Given the description of an element on the screen output the (x, y) to click on. 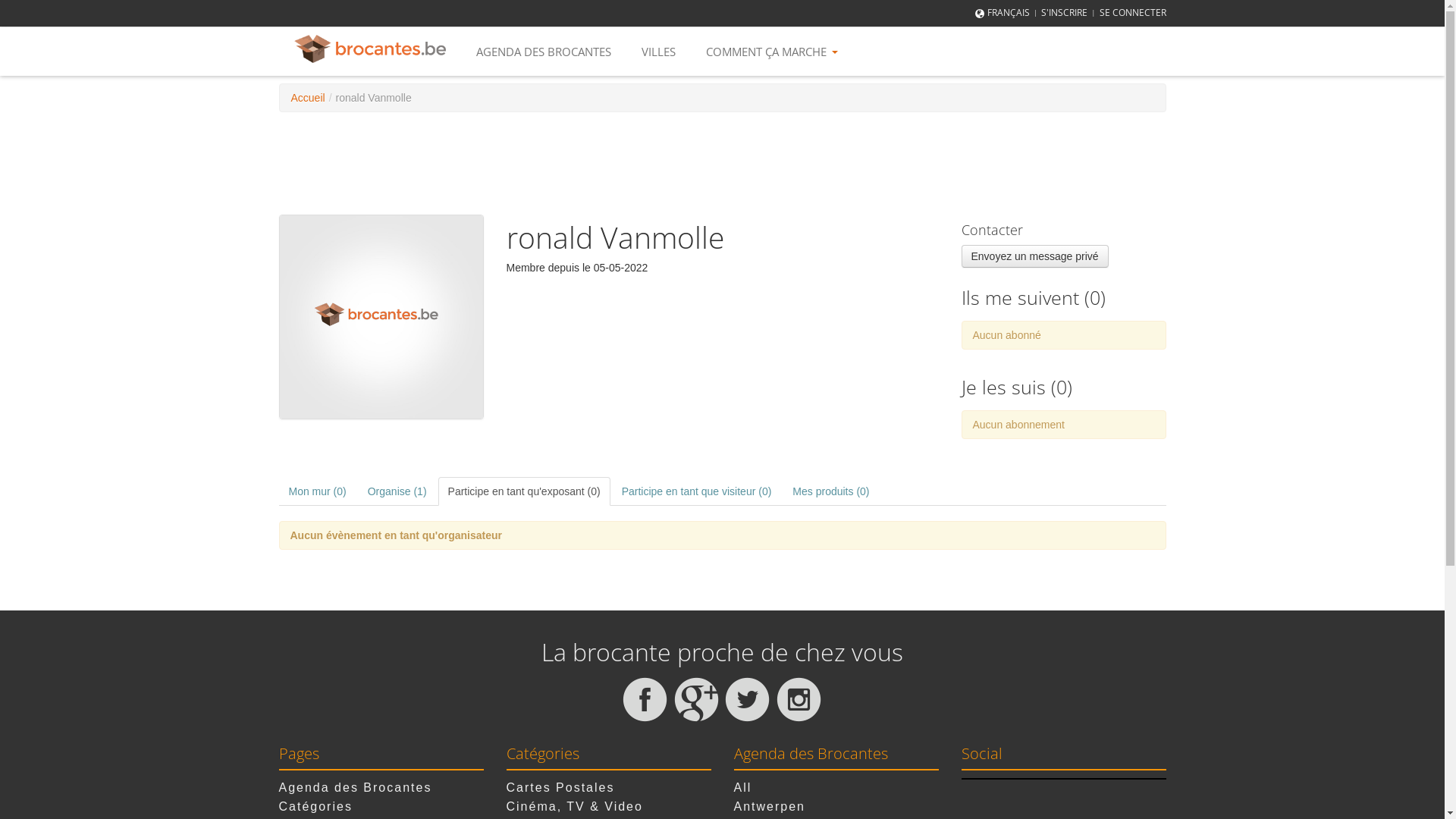
Mon mur (0) Element type: text (317, 490)
Accueil Element type: text (308, 97)
Participe en tant que visiteur (0) Element type: text (696, 490)
Mes produits (0) Element type: text (830, 490)
Participe en tant qu'exposant (0) Element type: text (524, 490)
All Element type: text (743, 787)
S'INSCRIRE Element type: text (1064, 12)
AGENDA DES BROCANTES Element type: text (543, 51)
Agenda des Brocantes Element type: text (355, 787)
VILLES Element type: text (658, 51)
Cartes Postales Element type: text (560, 787)
Organise (1) Element type: text (396, 490)
Advertisement Element type: hover (721, 161)
SE CONNECTER Element type: text (1132, 12)
Antwerpen Element type: text (770, 806)
